Given the description of an element on the screen output the (x, y) to click on. 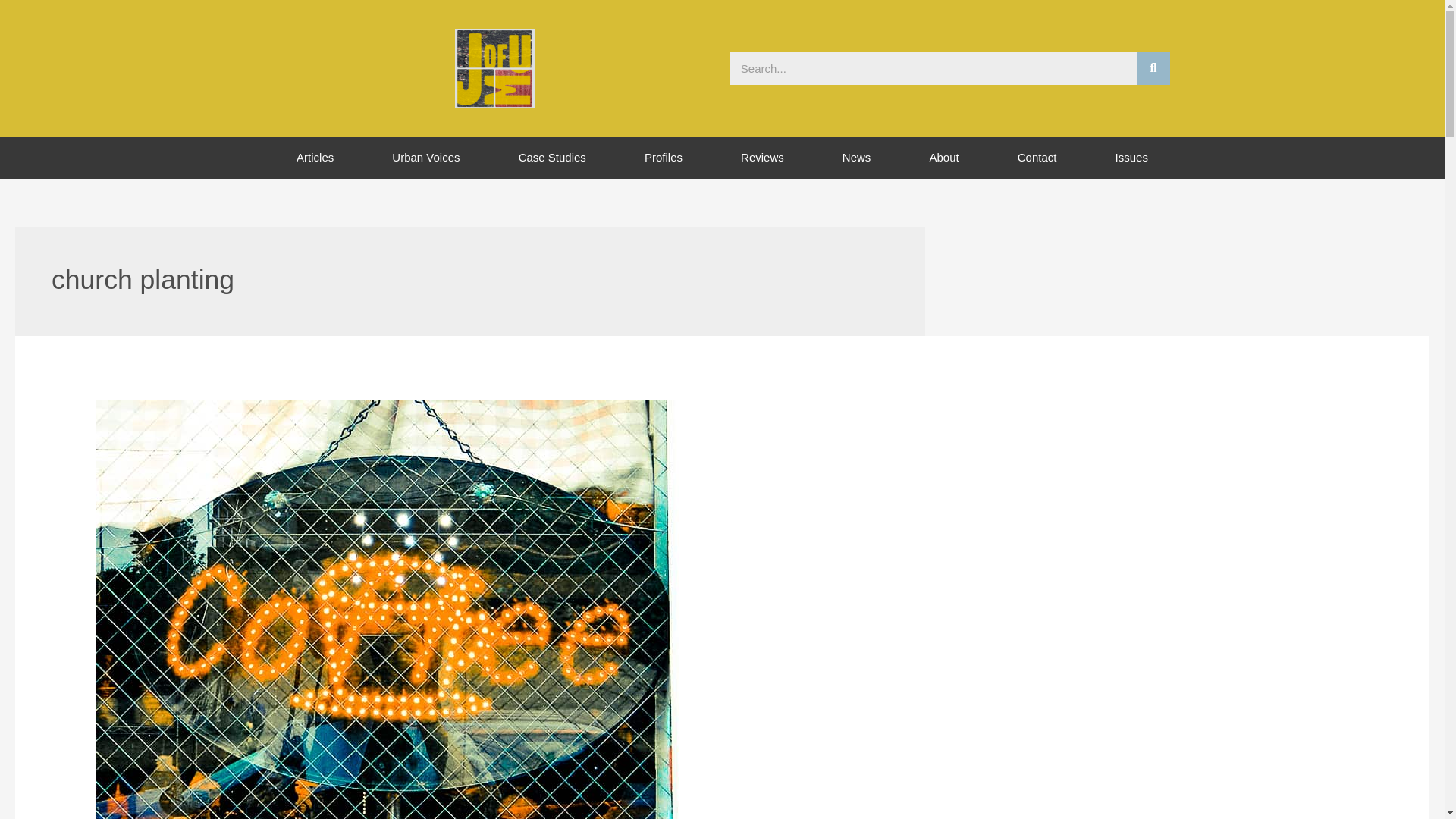
About (943, 157)
Reviews (762, 157)
Case Studies (551, 157)
Articles (314, 157)
Issues (1131, 157)
News (855, 157)
Contact (1037, 157)
Profiles (662, 157)
Urban Voices (425, 157)
Search (1153, 67)
